Given the description of an element on the screen output the (x, y) to click on. 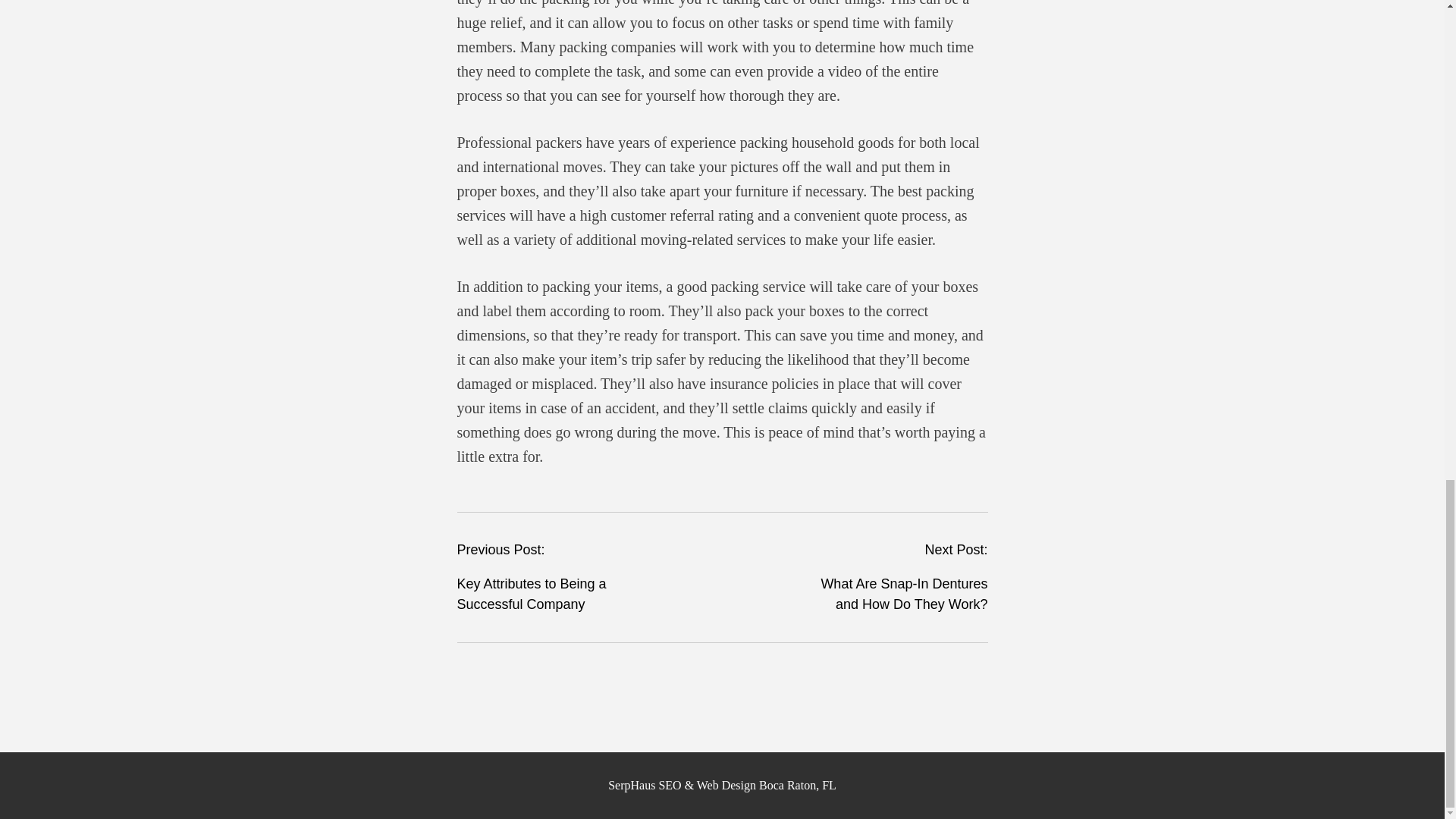
Key Attributes to Being a Successful Company (531, 593)
What Are Snap-In Dentures and How Do They Work? (904, 593)
